Given the description of an element on the screen output the (x, y) to click on. 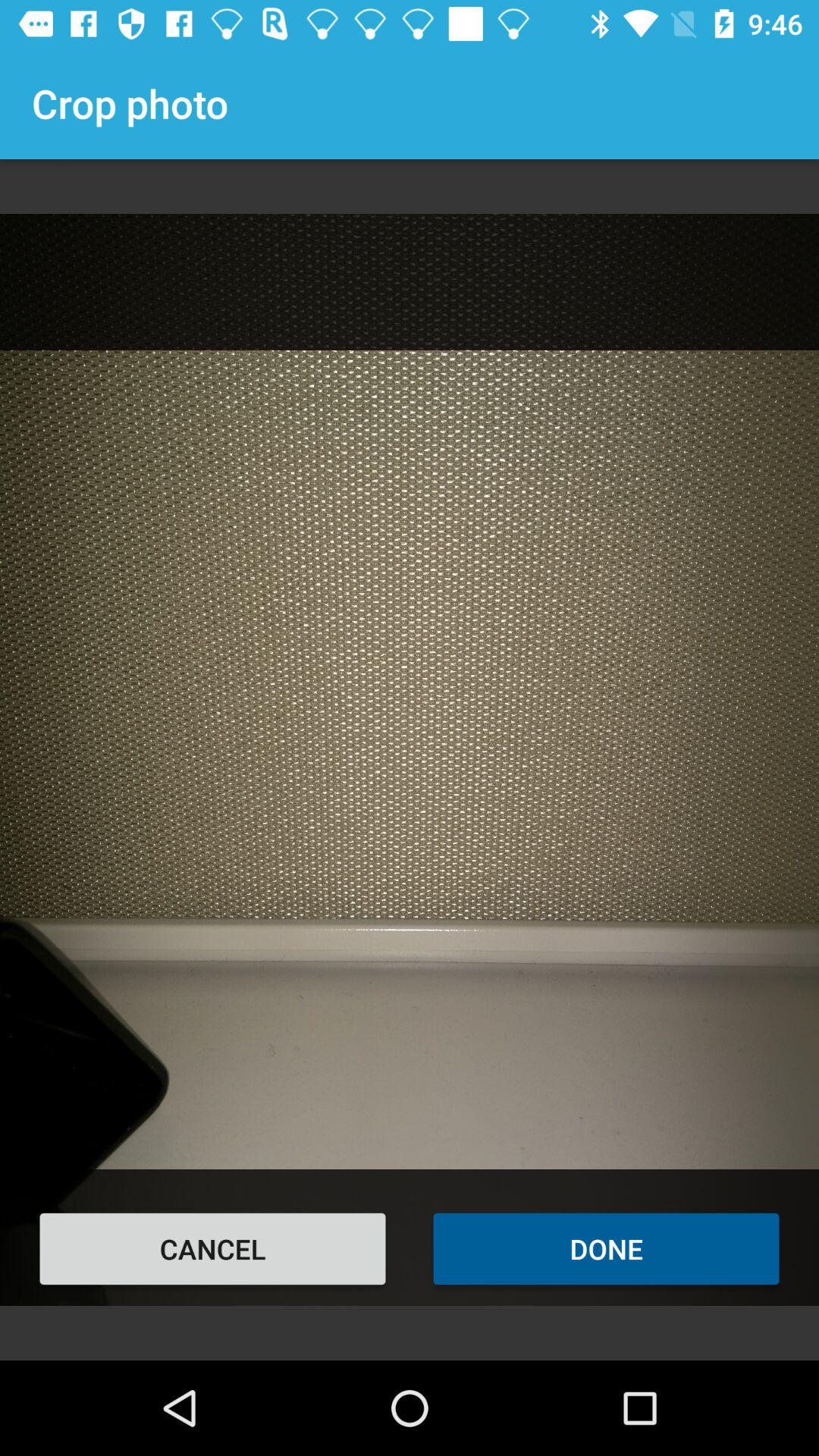
tap the icon below crop photo (212, 1248)
